Given the description of an element on the screen output the (x, y) to click on. 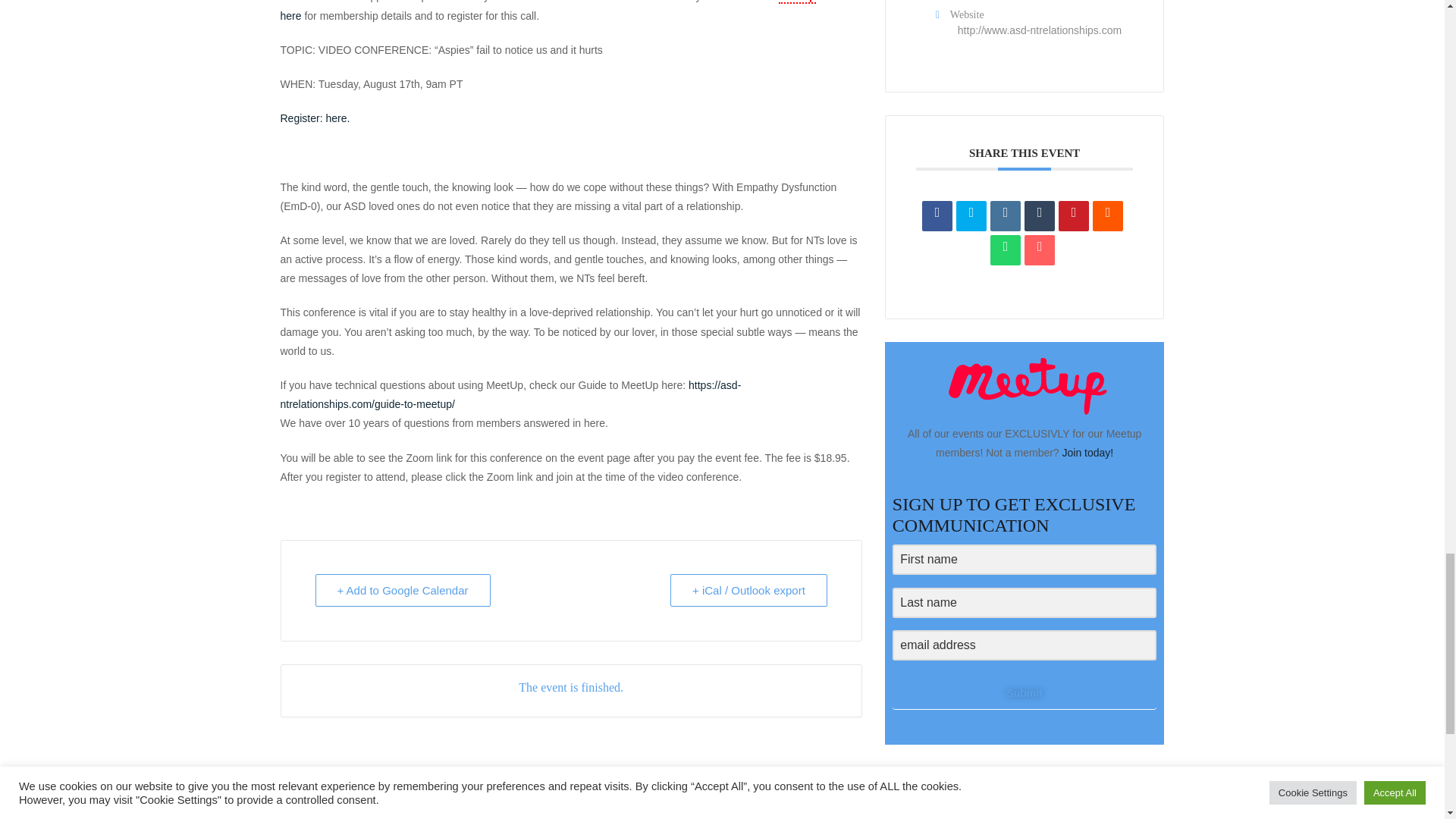
Share on Tumblr (1039, 215)
Share on Facebook (936, 215)
Share on Pinterest (1073, 215)
Tweet (971, 215)
Share on WhatsApp (1005, 250)
Email (1039, 250)
Share on Reddit (1107, 215)
Linkedin (1005, 215)
